Given the description of an element on the screen output the (x, y) to click on. 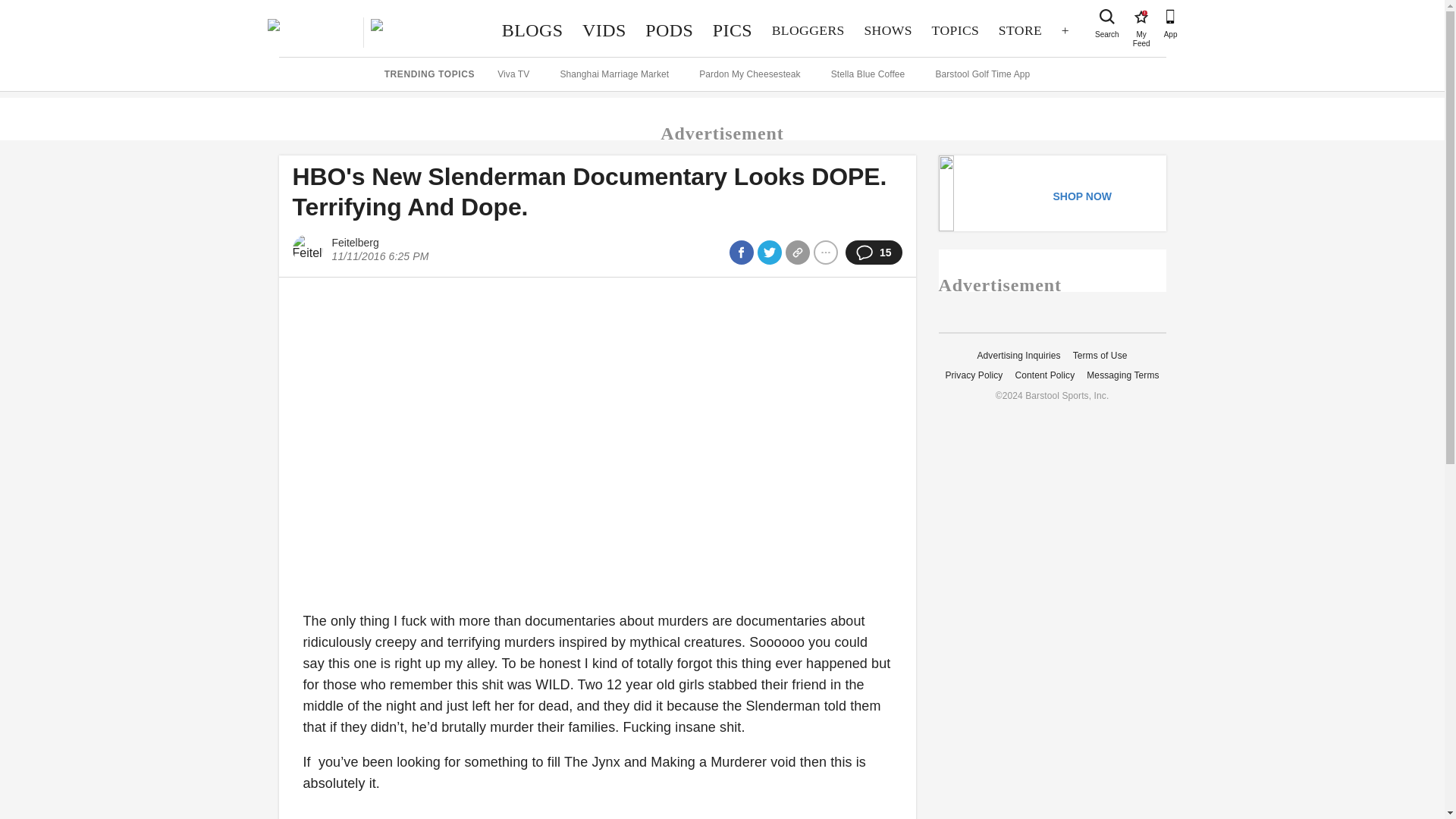
BLOGS (532, 30)
VIDS (1141, 16)
PODS (603, 30)
BLOGGERS (668, 30)
Search (807, 30)
STORE (1107, 16)
TOPICS (1019, 30)
PICS (954, 30)
SHOWS (732, 30)
